Given the description of an element on the screen output the (x, y) to click on. 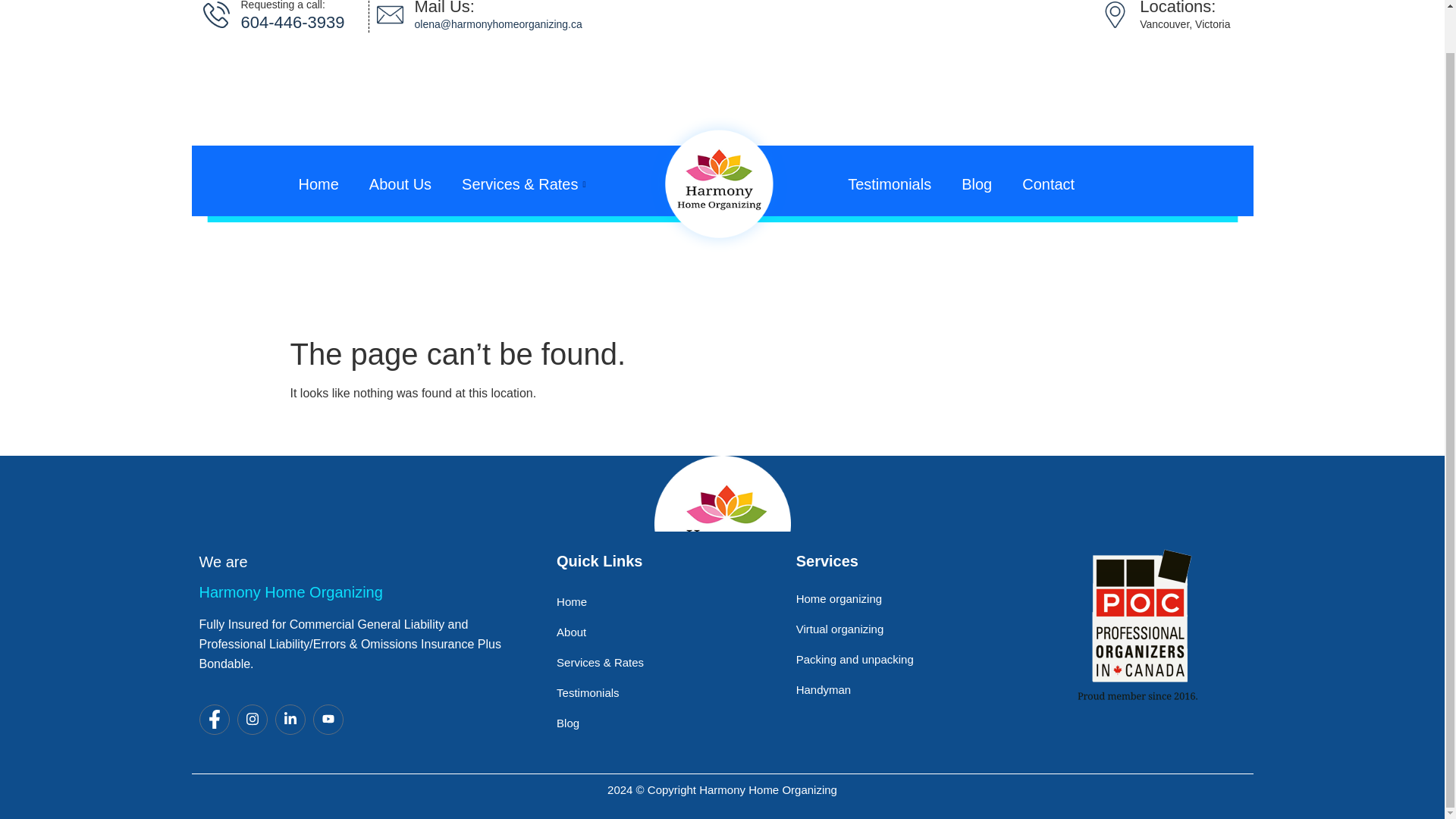
Blog (976, 184)
604-446-3939 (293, 22)
Contact (1048, 184)
Testimonials (889, 184)
Home (317, 184)
About Us (399, 184)
